Given the description of an element on the screen output the (x, y) to click on. 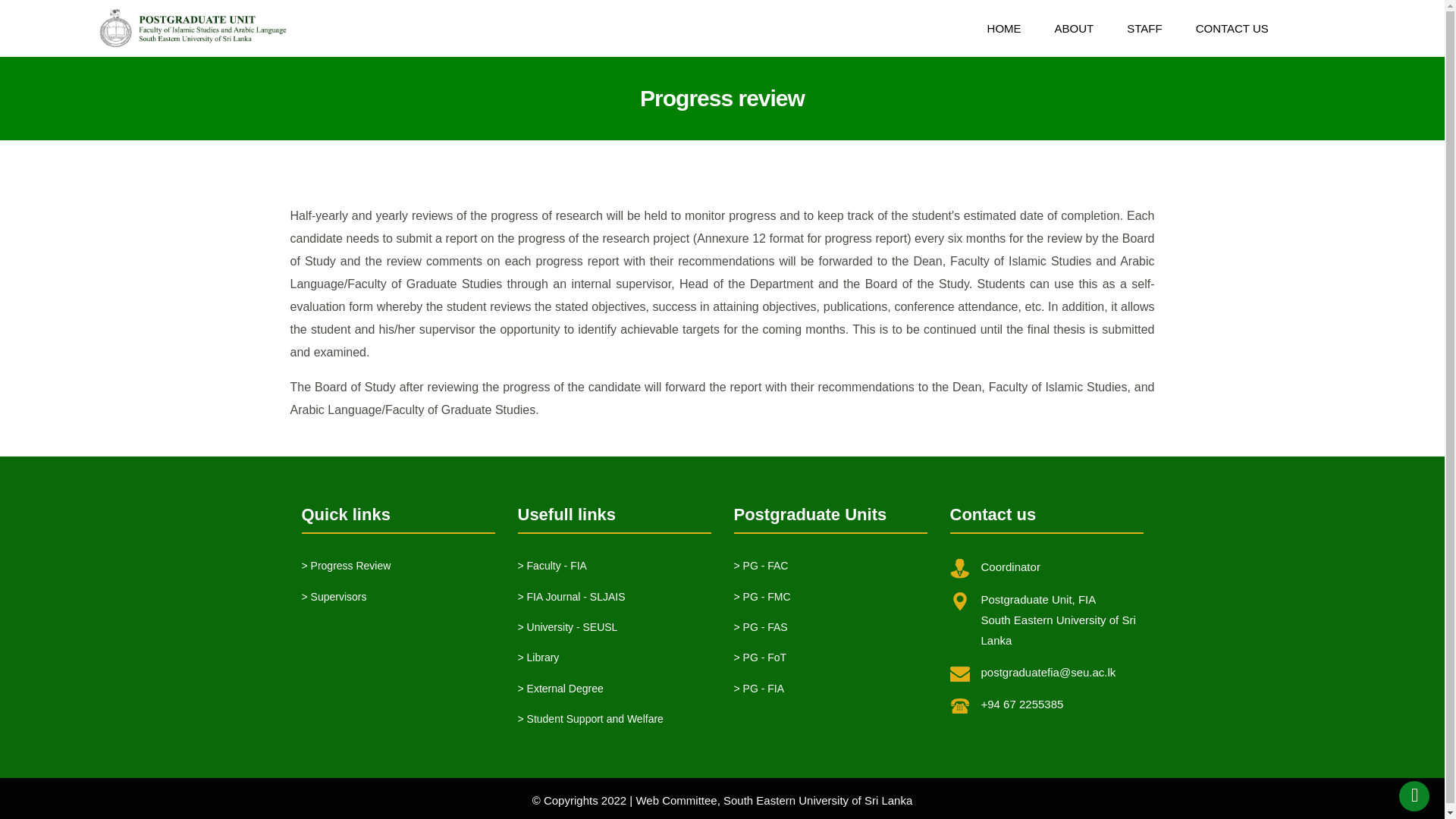
STAFF (1144, 28)
CONTACT US (1232, 28)
ABOUT (1074, 28)
HOME (1004, 28)
